Given the description of an element on the screen output the (x, y) to click on. 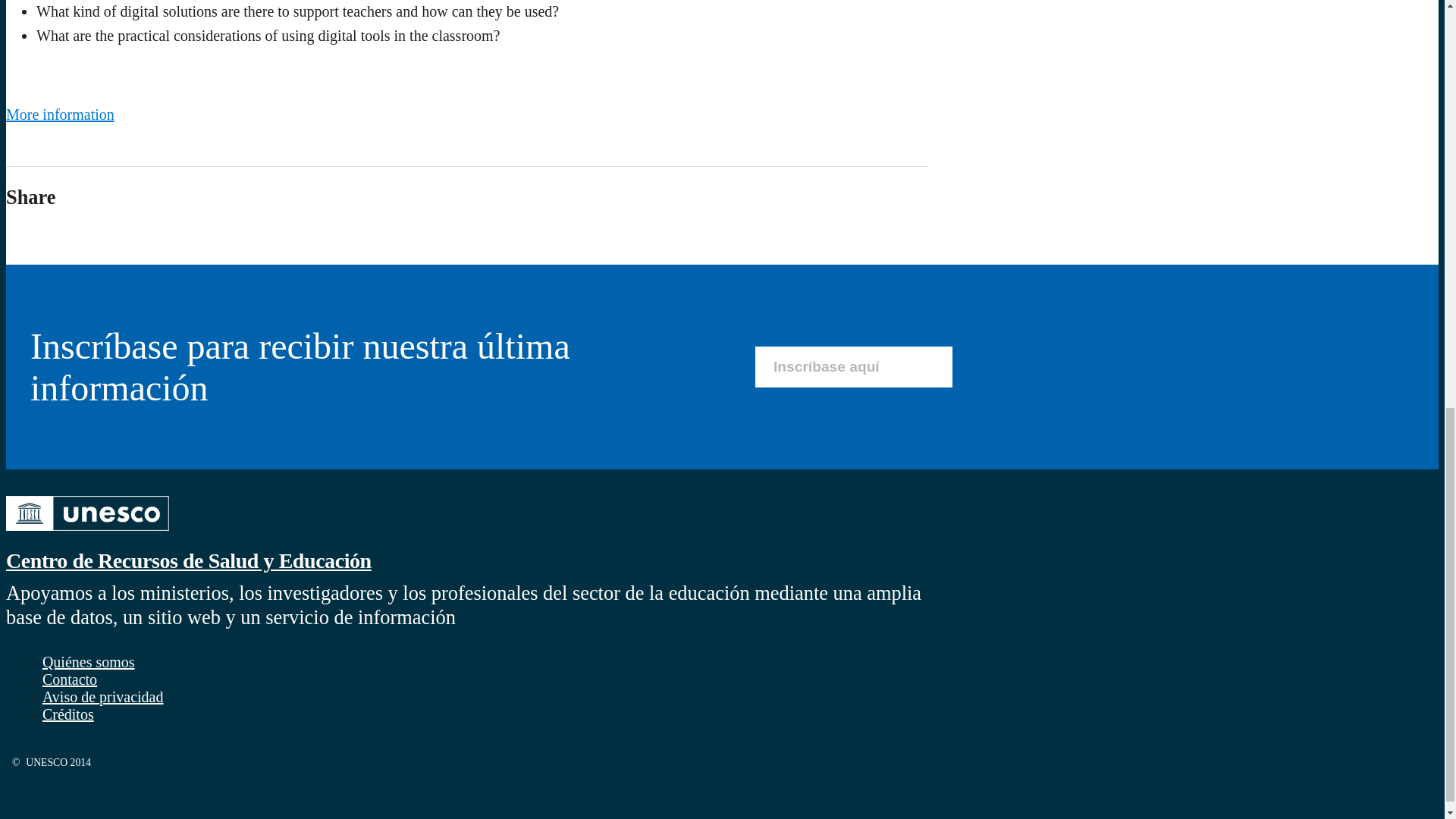
Contacto (69, 678)
Aviso de privacidad (102, 696)
Home (188, 560)
Home (86, 532)
More information (60, 114)
